Given the description of an element on the screen output the (x, y) to click on. 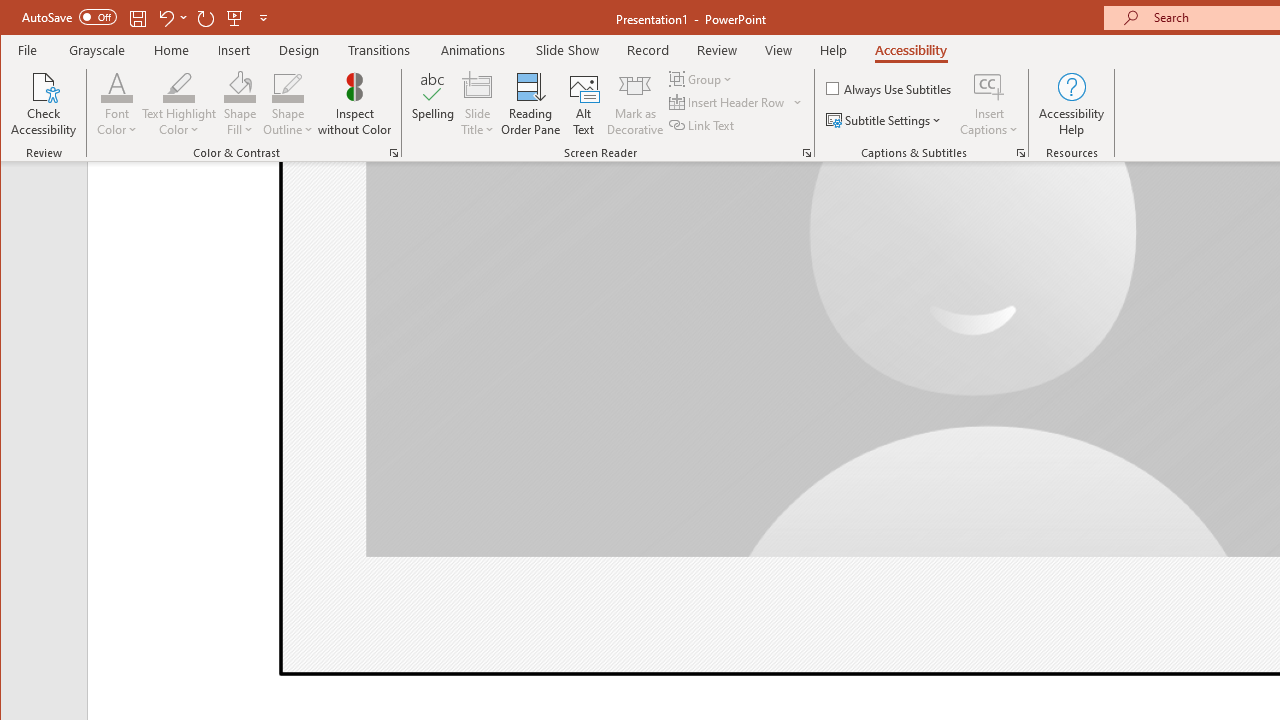
Accessibility Help (1071, 104)
Always Use Subtitles (890, 88)
